Given the description of an element on the screen output the (x, y) to click on. 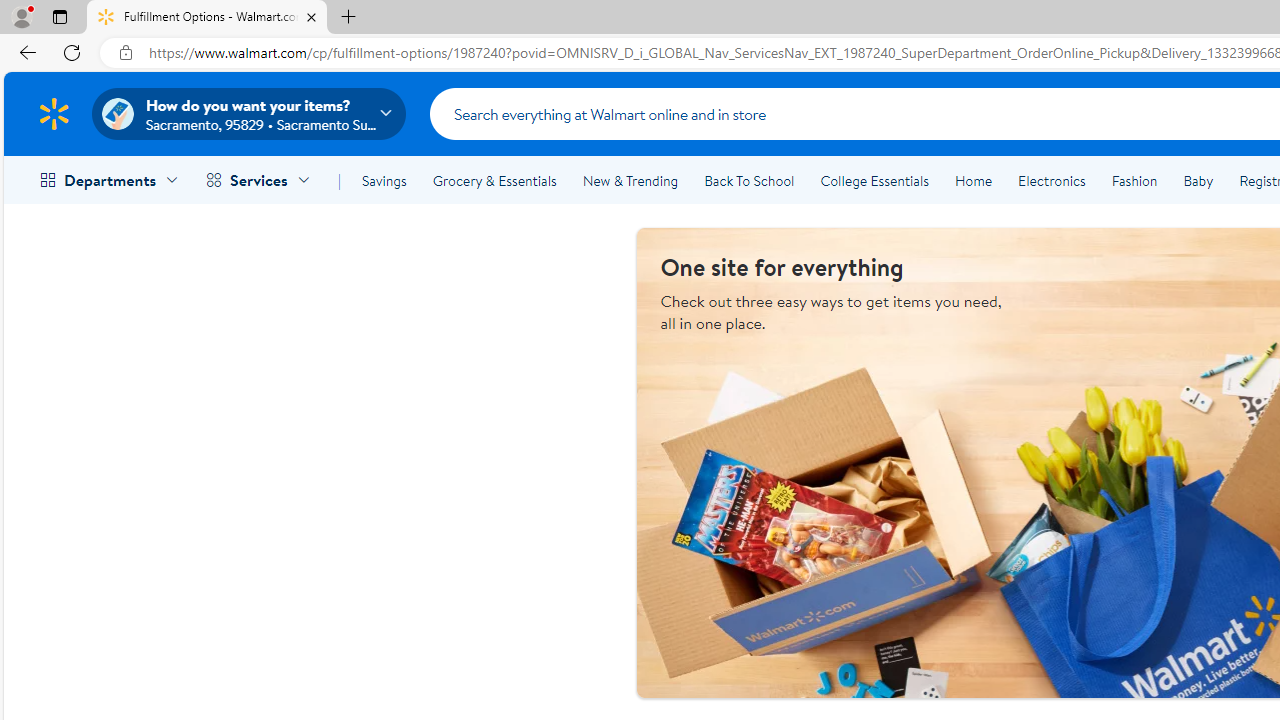
Grocery & Essentials (493, 180)
Baby (1197, 180)
Grocery & Essentials (493, 180)
Walmart Homepage (53, 113)
Back To School (749, 180)
College Essentials (874, 180)
Baby (1197, 180)
New & Trending (630, 180)
New & Trending (630, 180)
Fashion (1134, 180)
